Given the description of an element on the screen output the (x, y) to click on. 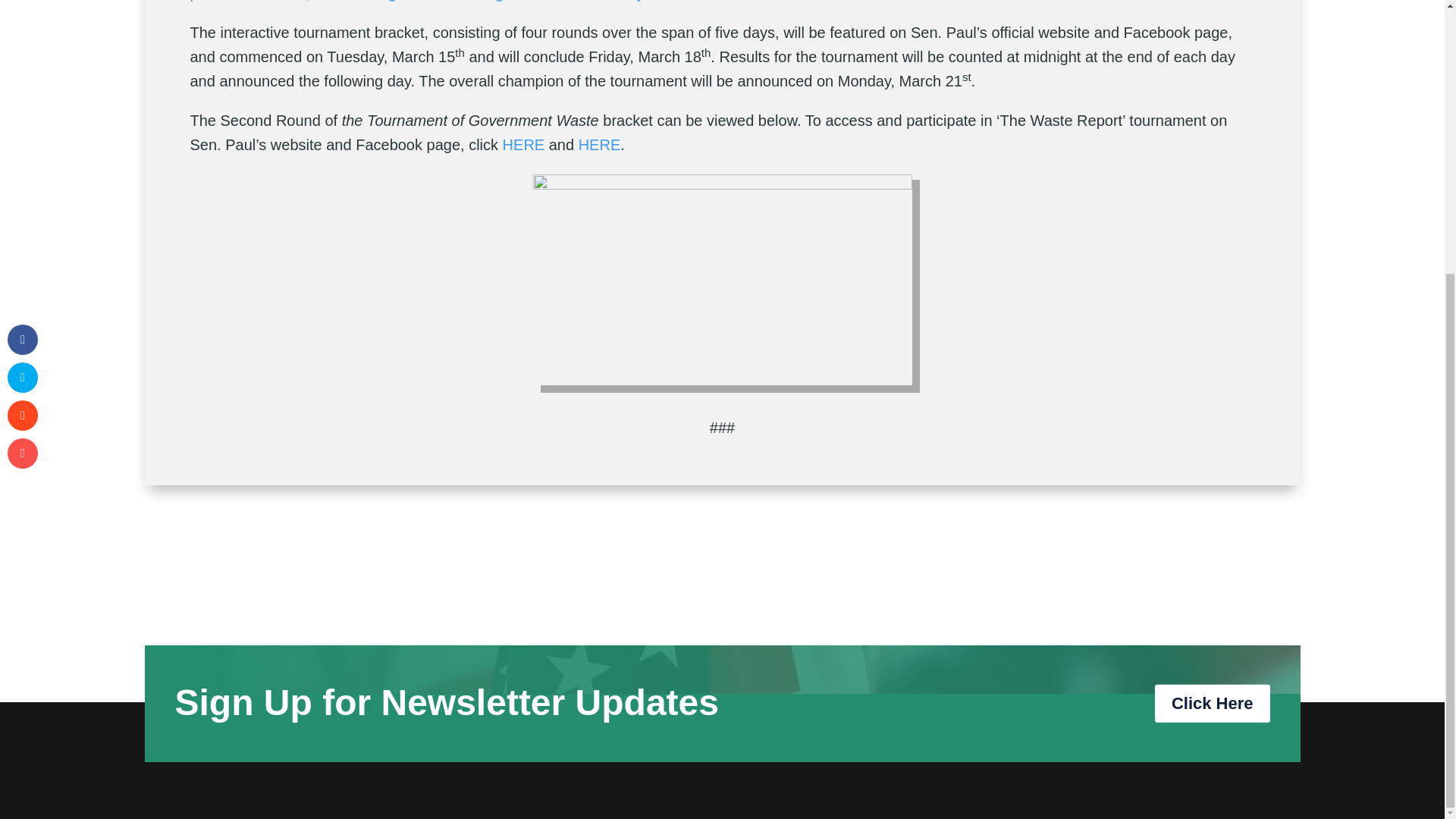
Click Here (1211, 702)
HERE (523, 144)
HERE (599, 144)
